Given the description of an element on the screen output the (x, y) to click on. 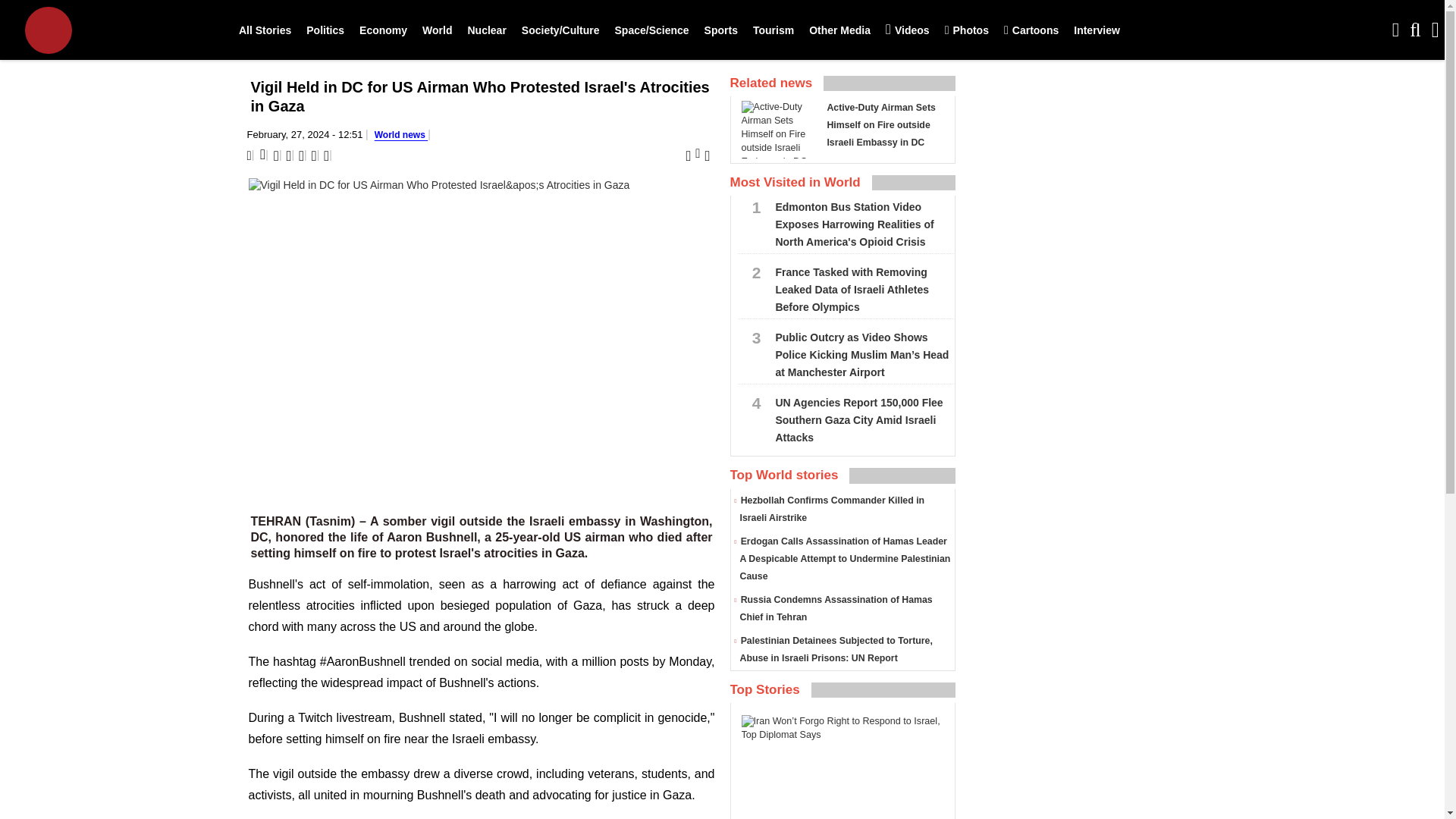
Other Media (839, 30)
Videos (907, 30)
Tourism (773, 30)
All Stories (264, 30)
Cartoons (1030, 30)
Economy (383, 30)
Photos (966, 30)
Interview (1095, 30)
